Given the description of an element on the screen output the (x, y) to click on. 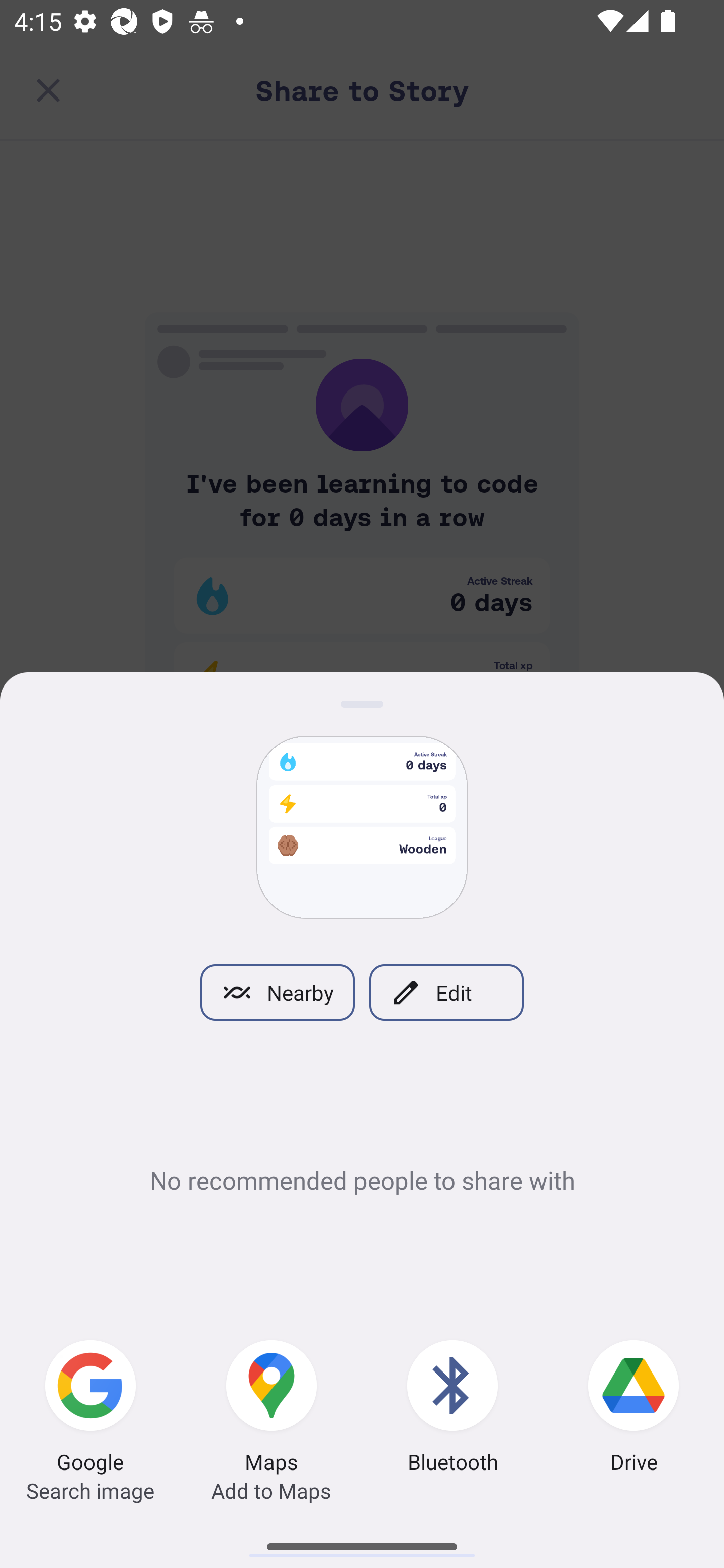
Nearby (276, 992)
Edit (446, 992)
Google Search image (90, 1409)
Maps Add to Maps (271, 1409)
Bluetooth (452, 1409)
Drive (633, 1409)
